Given the description of an element on the screen output the (x, y) to click on. 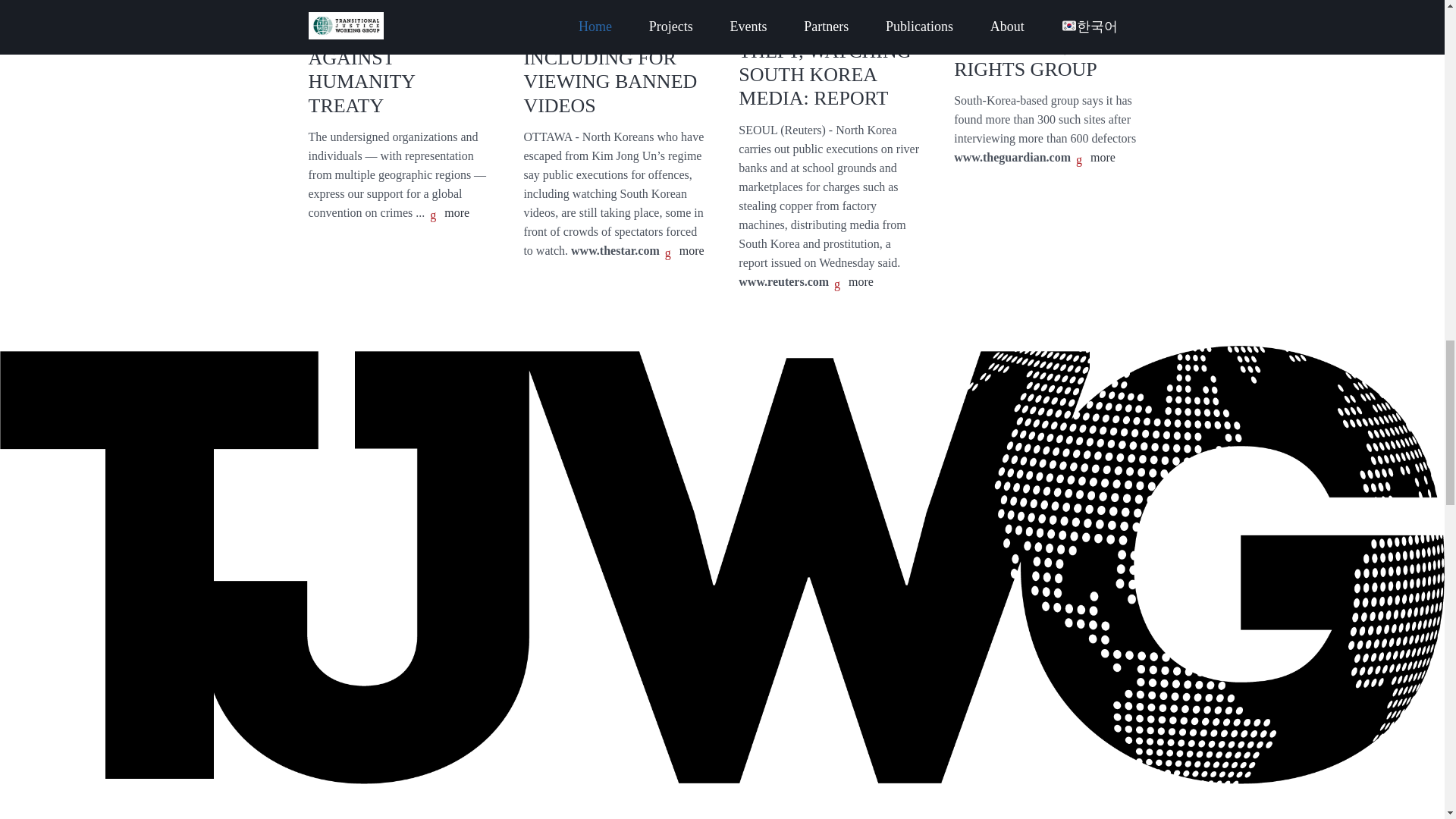
www.theguardian.com (1011, 156)
more (1094, 158)
more (683, 251)
www.thestar.com (614, 250)
more (448, 213)
more (852, 282)
www.reuters.com (783, 281)
